Given the description of an element on the screen output the (x, y) to click on. 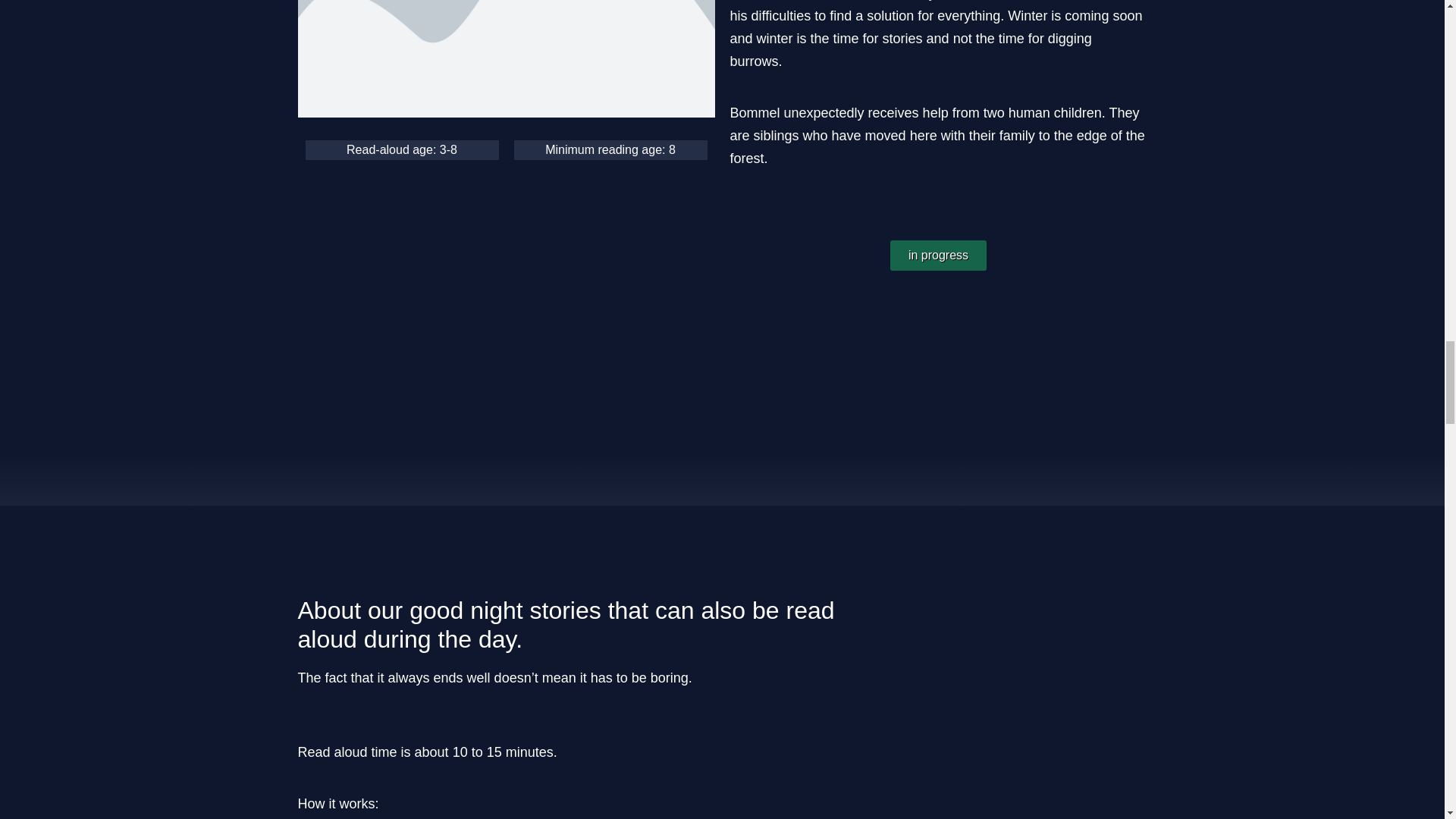
in progress (938, 255)
